Given the description of an element on the screen output the (x, y) to click on. 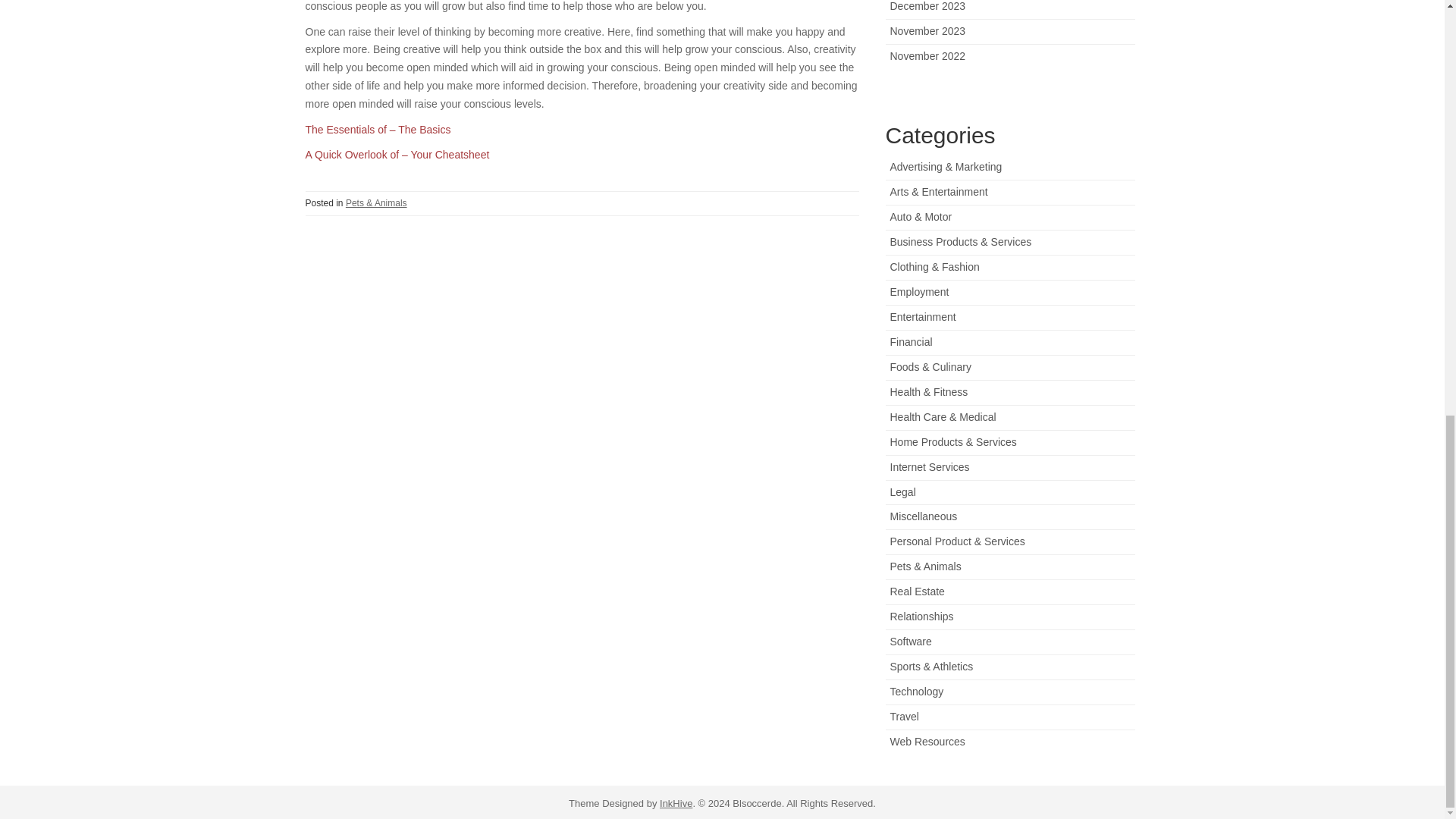
November 2023 (927, 30)
Internet Services (929, 467)
Financial (911, 341)
November 2022 (927, 55)
December 2023 (927, 6)
Entertainment (922, 316)
Employment (919, 291)
